Given the description of an element on the screen output the (x, y) to click on. 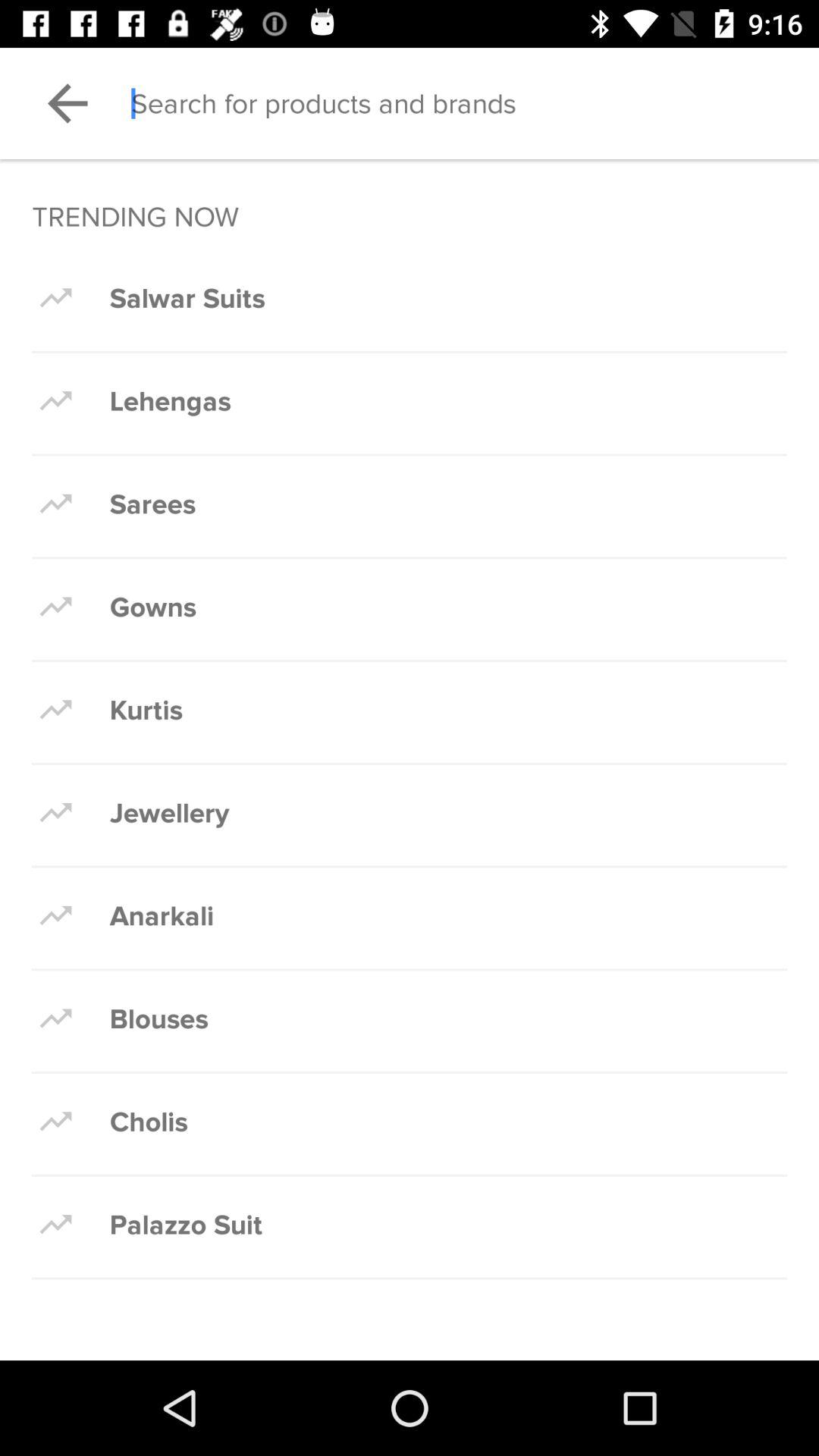
search for products (475, 103)
